Given the description of an element on the screen output the (x, y) to click on. 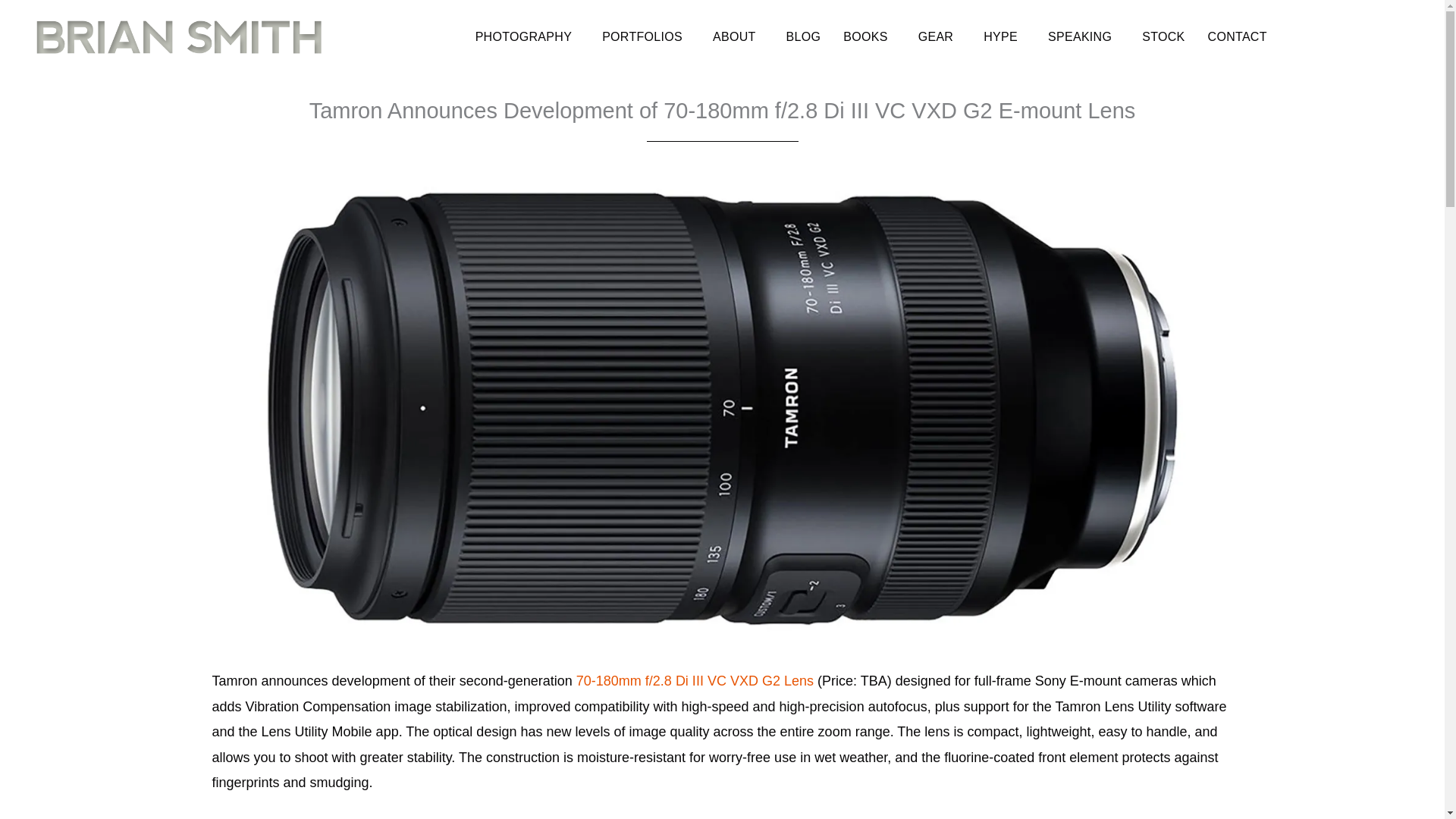
ABOUT (737, 36)
PORTFOLIOS (645, 36)
BLOG (803, 36)
GEAR (940, 36)
BOOKS (868, 36)
PHOTOGRAPHY (526, 36)
